Given the description of an element on the screen output the (x, y) to click on. 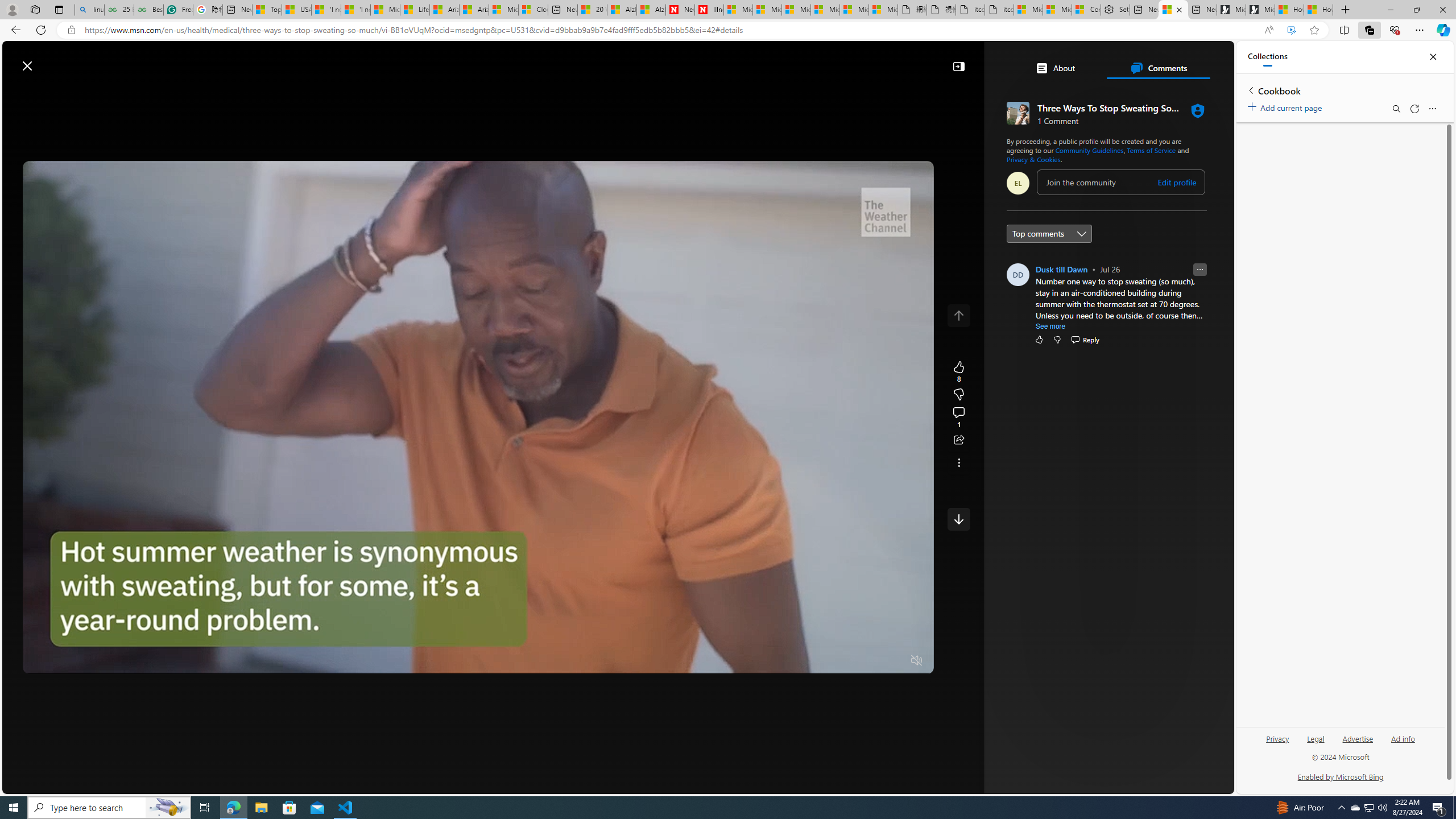
Skip to content (49, 59)
Legal (1315, 738)
Web search (415, 60)
comment-box (1120, 181)
App bar (728, 29)
Pause (39, 660)
Dislike (1056, 339)
Open navigation menu (182, 92)
Illness news & latest pictures from Newsweek.com (709, 9)
Advertise (1358, 742)
Privacy (1277, 742)
More options menu (1432, 108)
